Given the description of an element on the screen output the (x, y) to click on. 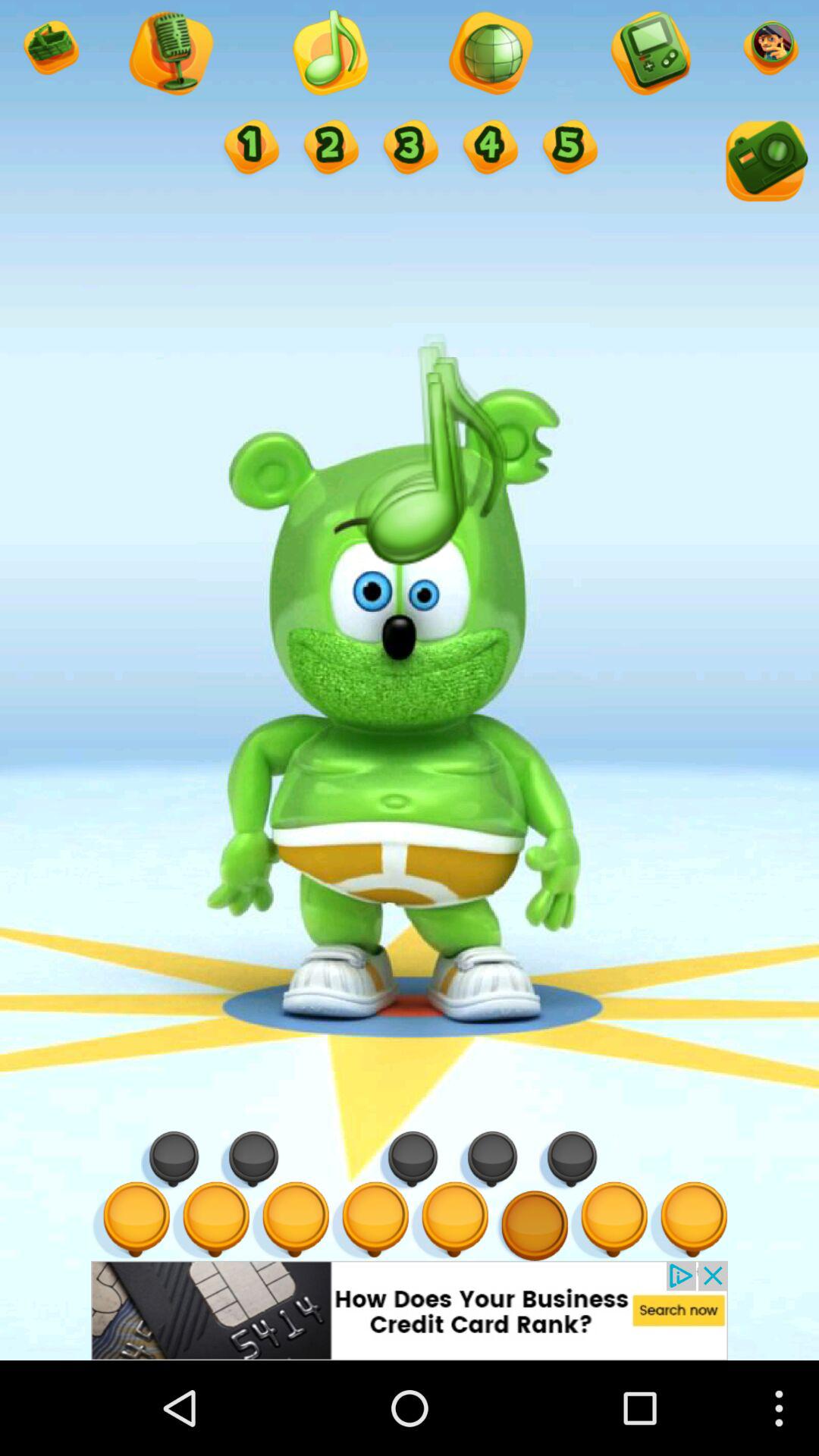
select 3 option (409, 149)
